Given the description of an element on the screen output the (x, y) to click on. 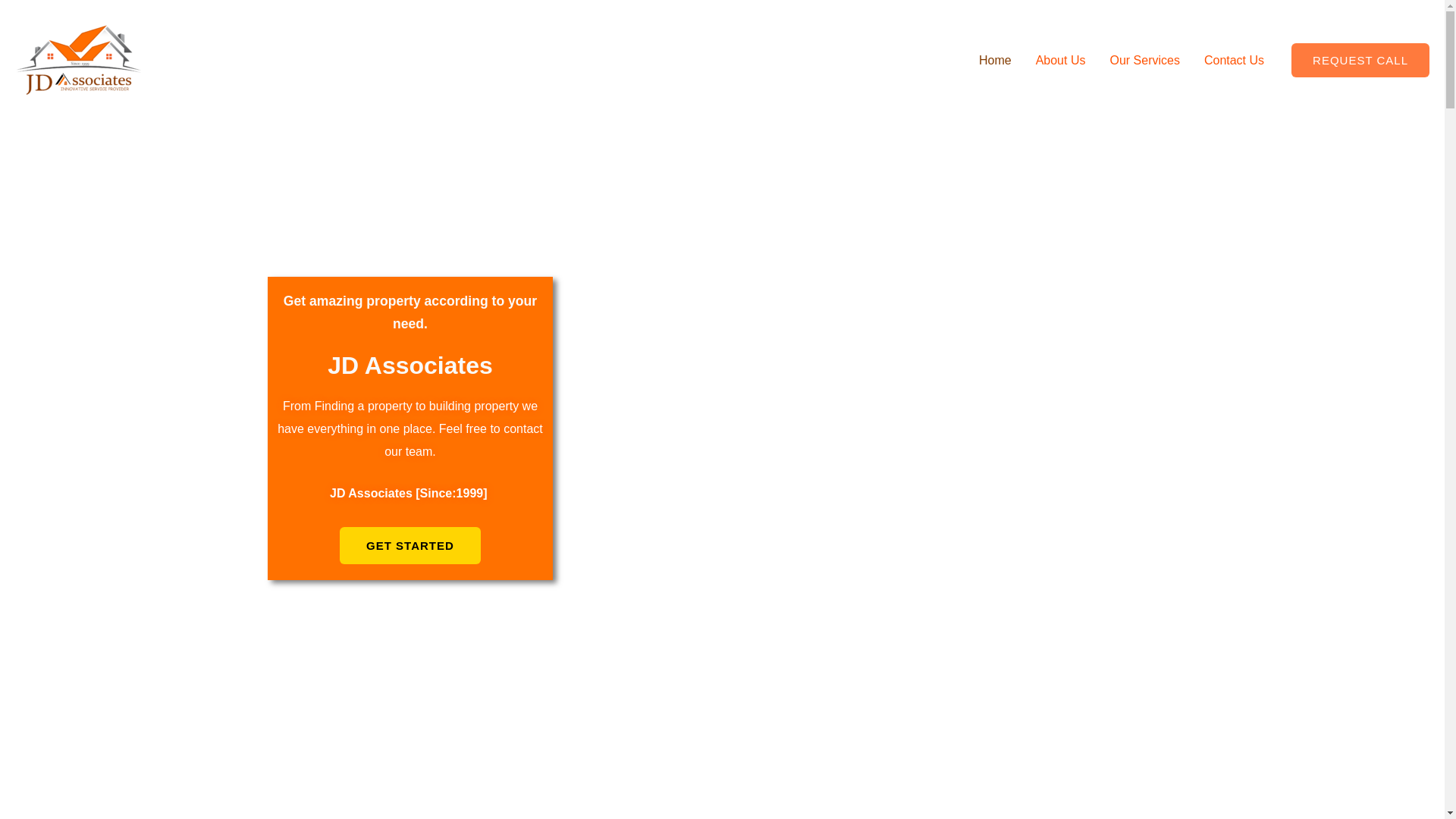
Contact Us (1234, 59)
GET STARTED (409, 545)
About Us (1060, 59)
Our Services (1144, 59)
Home (994, 59)
REQUEST CALL (1360, 59)
